Given the description of an element on the screen output the (x, y) to click on. 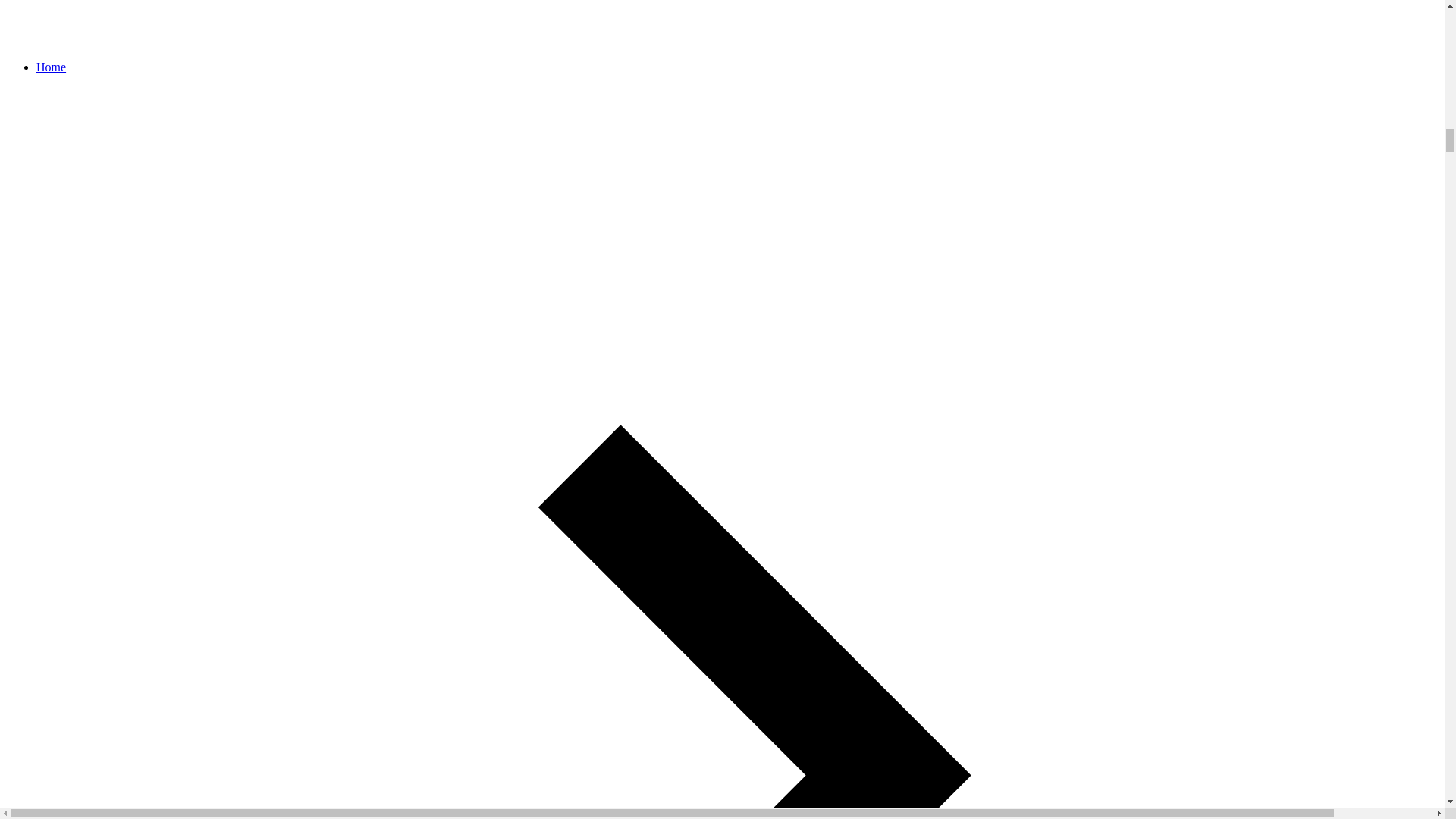
Contact us (721, 23)
Home (50, 66)
